Given the description of an element on the screen output the (x, y) to click on. 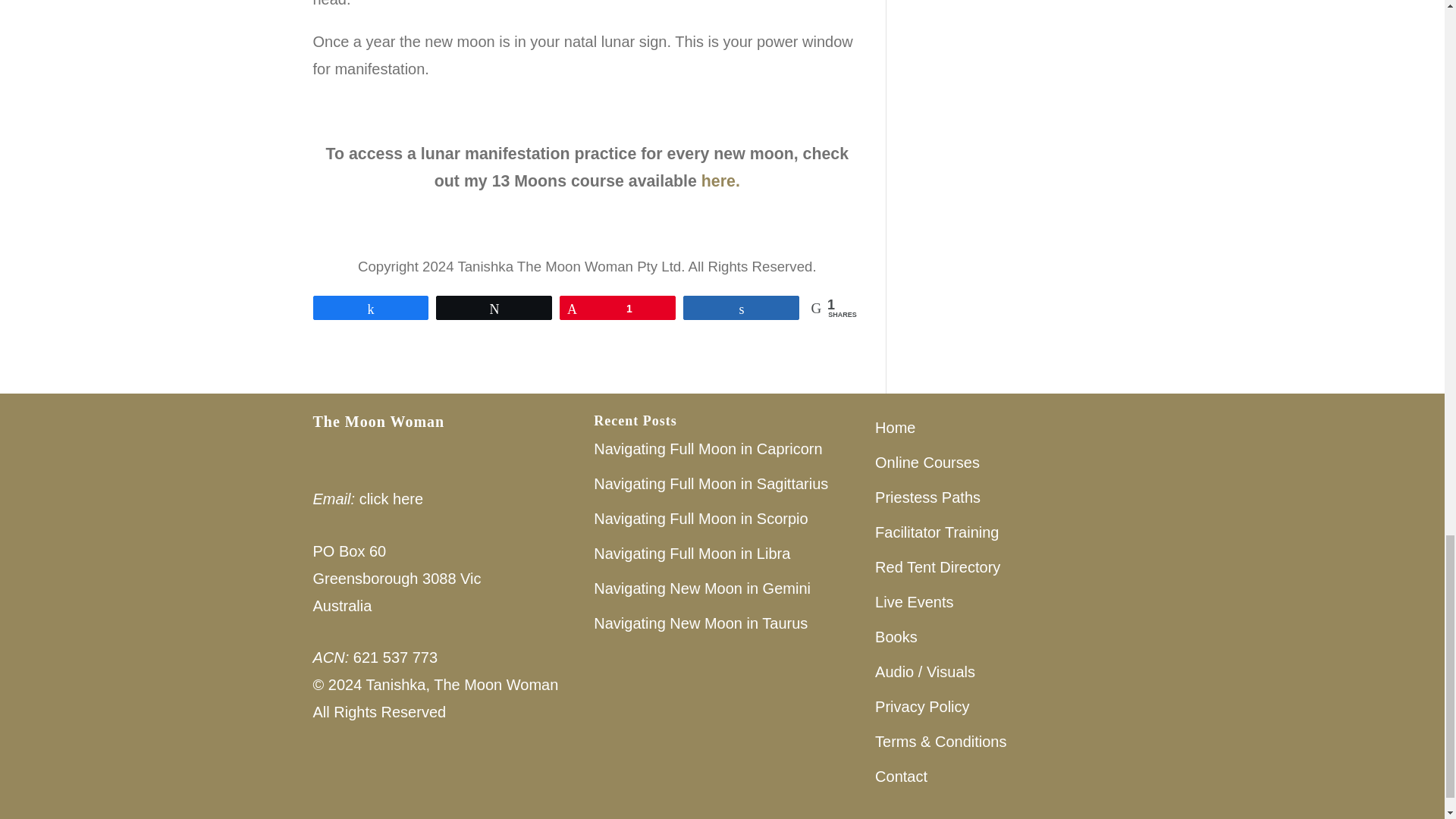
GeoTrust RapidSSL (369, 784)
